Given the description of an element on the screen output the (x, y) to click on. 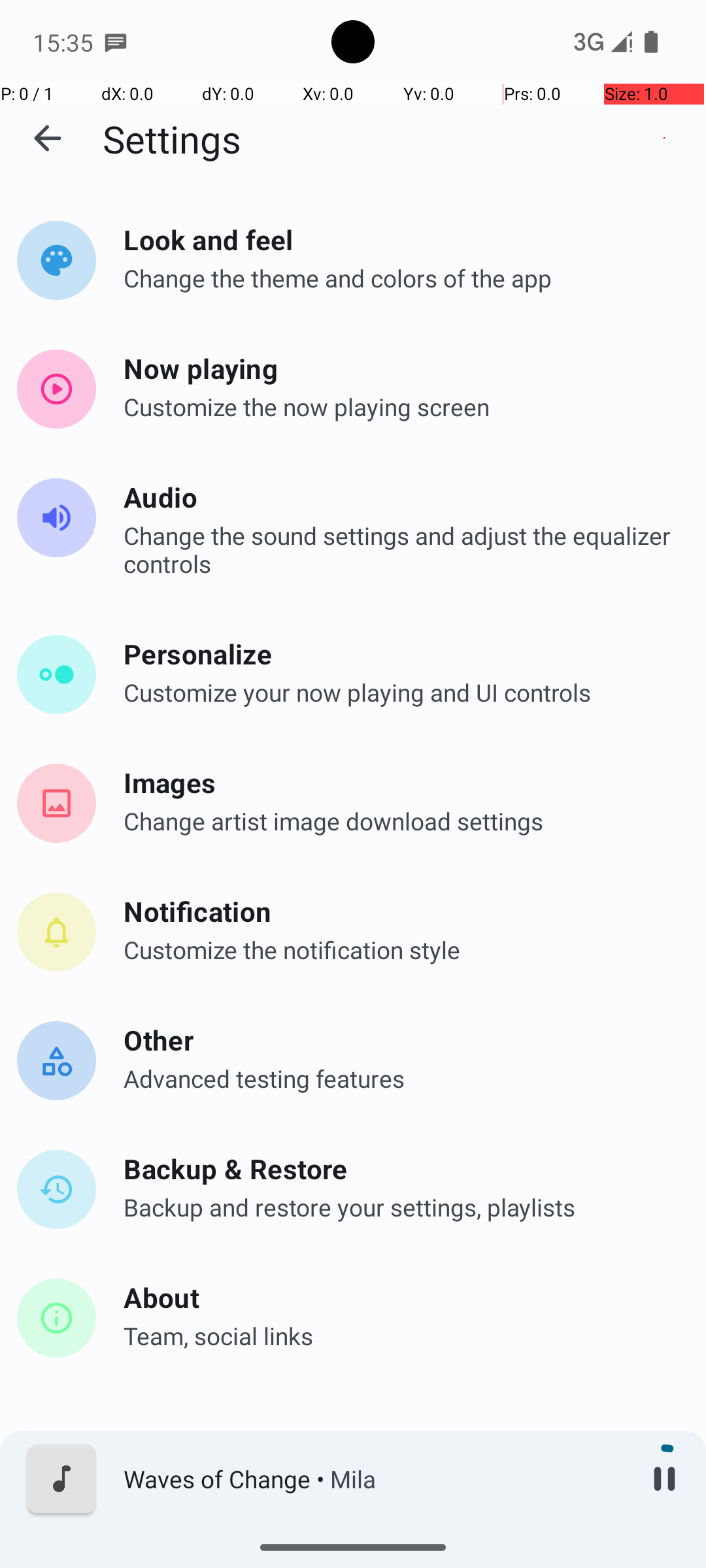
Waves of Change • Mila Element type: android.widget.TextView (372, 1478)
Look and feel Element type: android.widget.TextView (399, 239)
Change the theme and colors of the app Element type: android.widget.TextView (399, 277)
Now playing Element type: android.widget.TextView (399, 367)
Customize the now playing screen Element type: android.widget.TextView (399, 406)
Change the sound settings and adjust the equalizer controls Element type: android.widget.TextView (399, 549)
Personalize Element type: android.widget.TextView (399, 653)
Customize your now playing and UI controls Element type: android.widget.TextView (399, 691)
Change artist image download settings Element type: android.widget.TextView (399, 820)
Notification Element type: android.widget.TextView (399, 910)
Customize the notification style Element type: android.widget.TextView (399, 949)
Advanced testing features Element type: android.widget.TextView (399, 1077)
Backup & Restore Element type: android.widget.TextView (399, 1168)
Backup and restore your settings, playlists Element type: android.widget.TextView (399, 1206)
About Element type: android.widget.TextView (399, 1296)
Team, social links Element type: android.widget.TextView (399, 1335)
